Given the description of an element on the screen output the (x, y) to click on. 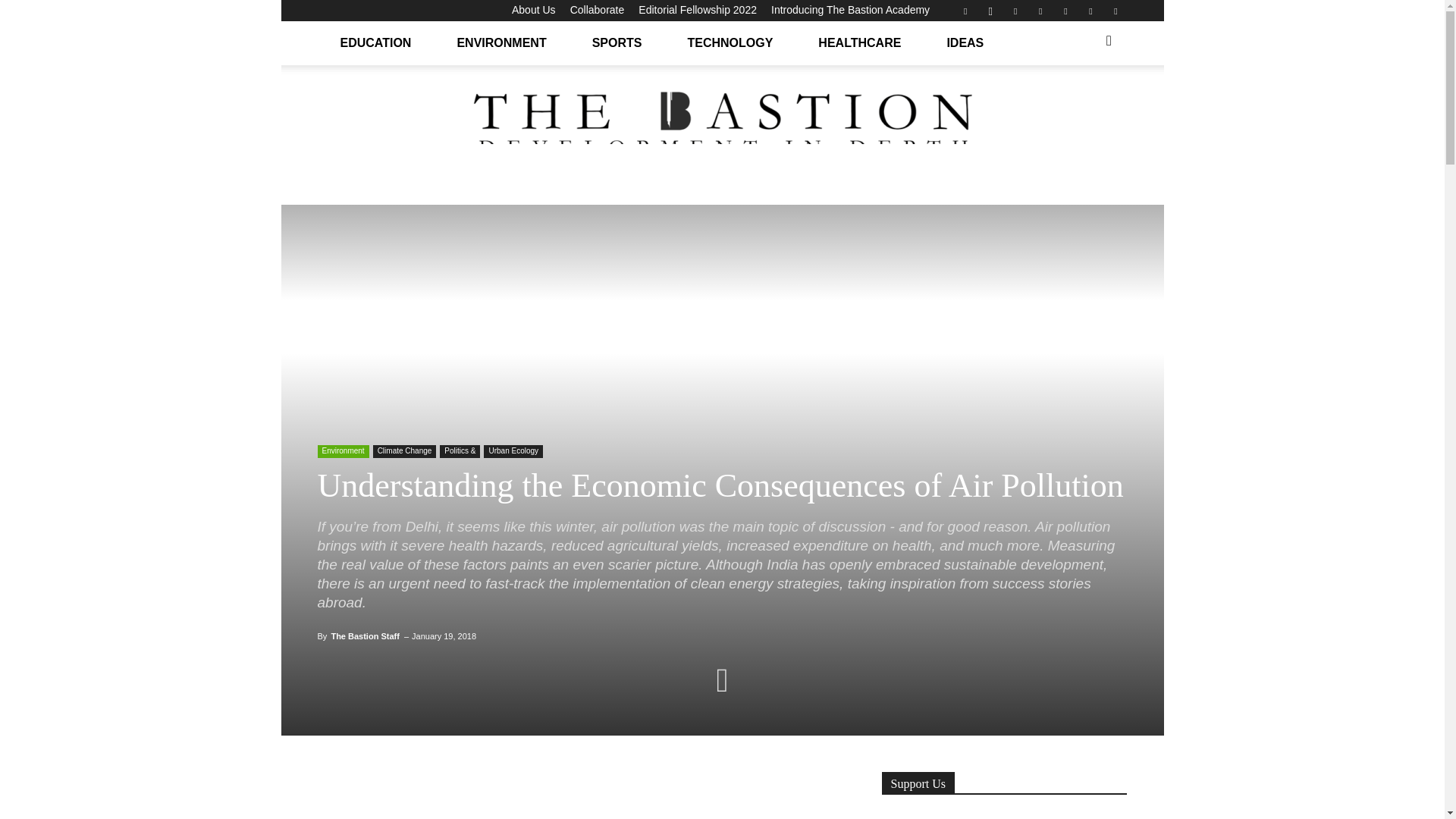
Introducing The Bastion Academy (850, 9)
Twitter (1090, 10)
Youtube (1114, 10)
About Us (534, 9)
Collaborate (597, 9)
Instagram (989, 10)
Linkedin (1015, 10)
Mail (1040, 10)
RSS (1065, 10)
Facebook (964, 10)
Editorial Fellowship 2022 (698, 9)
